Given the description of an element on the screen output the (x, y) to click on. 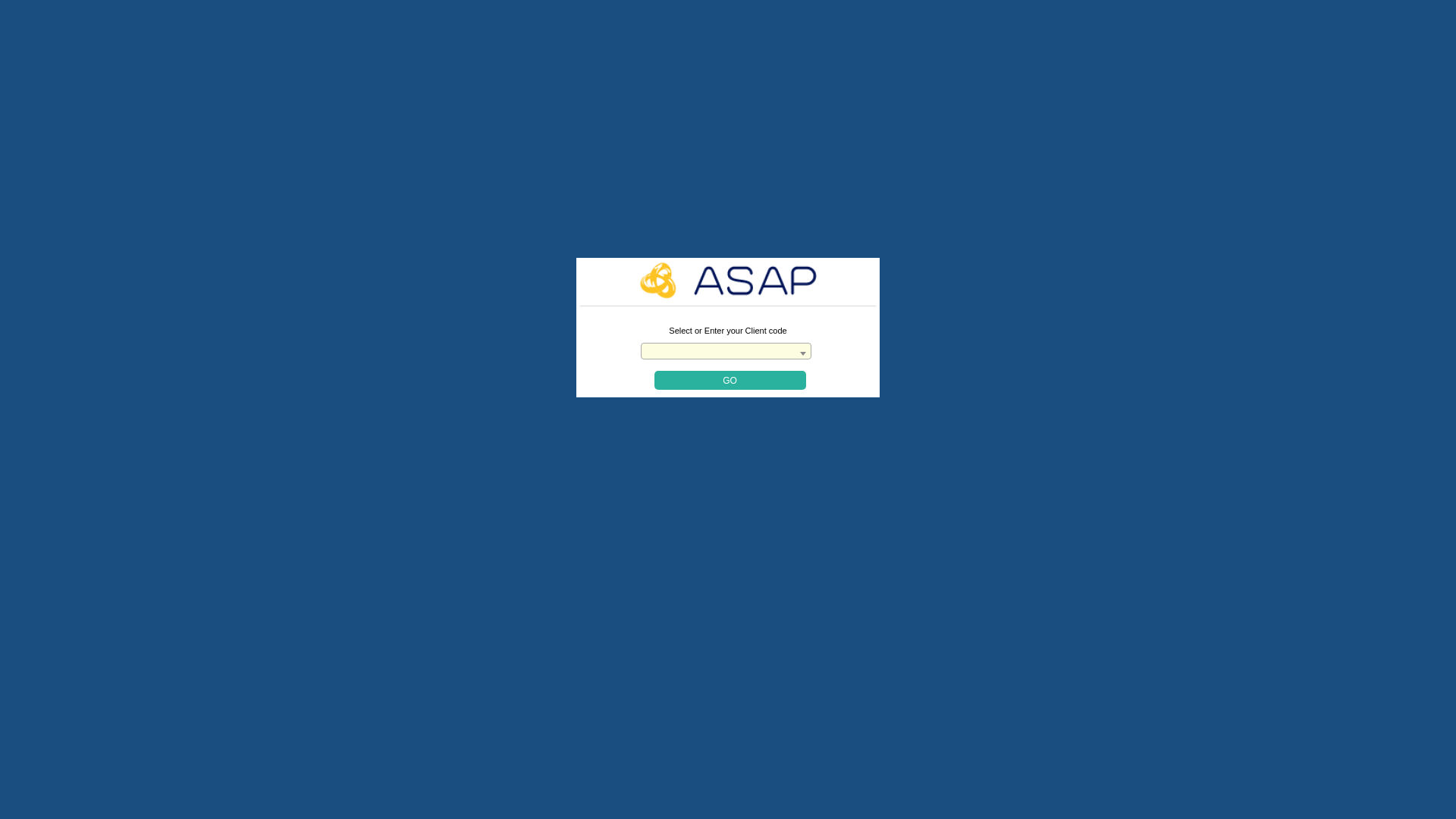
Go Element type: text (729, 379)
